Given the description of an element on the screen output the (x, y) to click on. 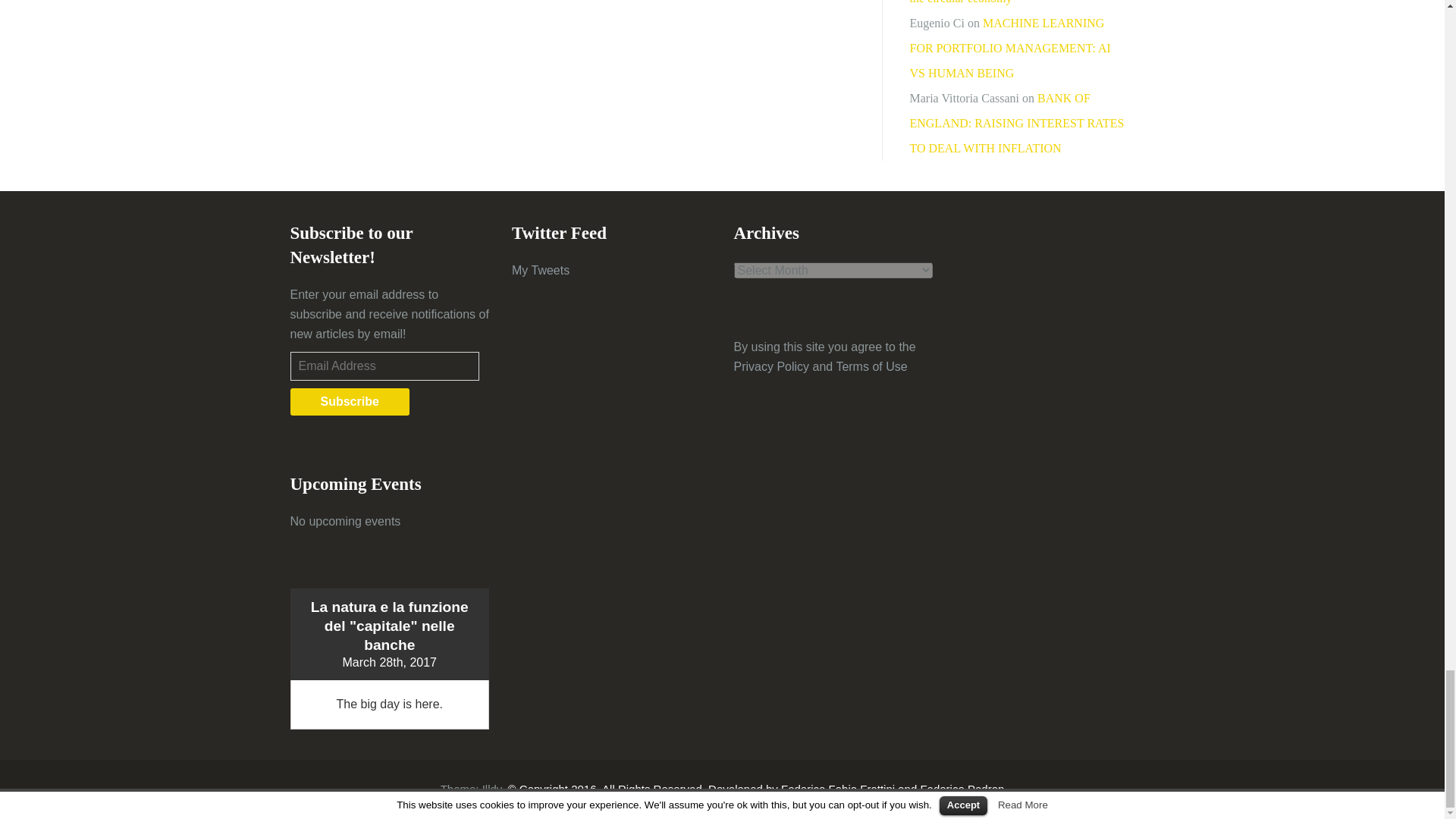
Subscribe (349, 401)
Illdy (491, 788)
